Given the description of an element on the screen output the (x, y) to click on. 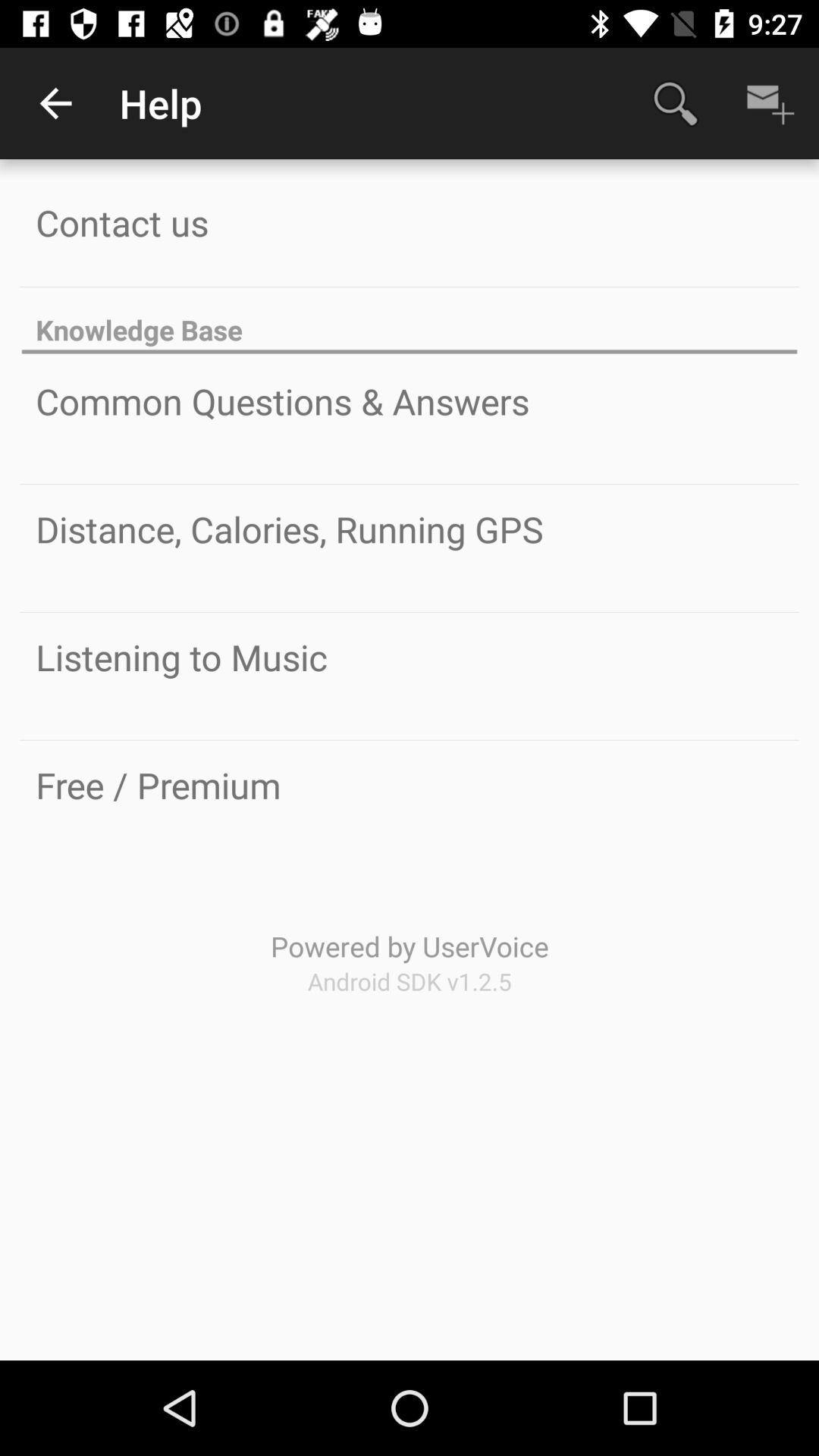
launch item above the contact us (55, 103)
